Given the description of an element on the screen output the (x, y) to click on. 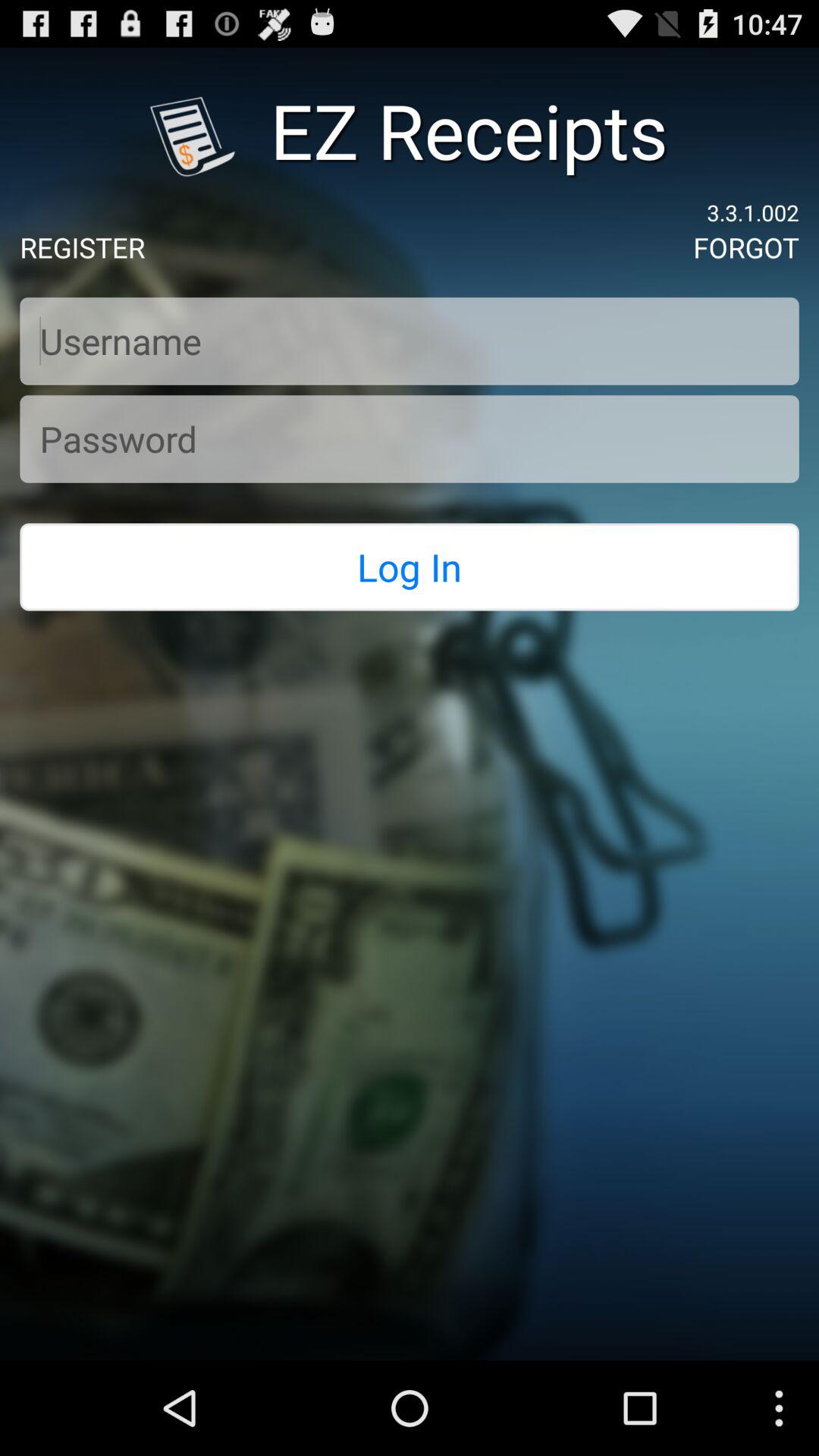
enter your password (409, 438)
